Given the description of an element on the screen output the (x, y) to click on. 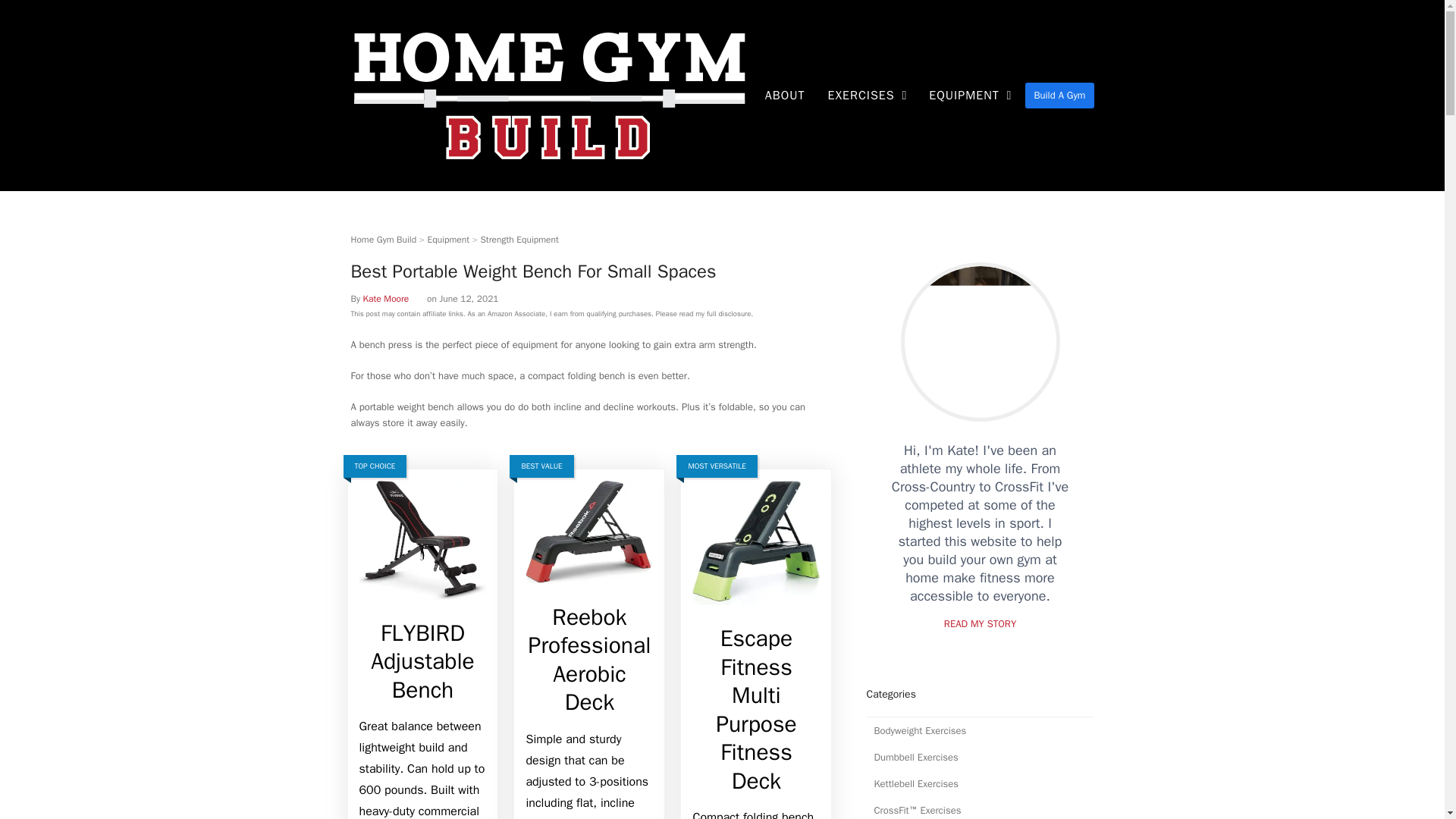
FLYBIRD Adjustable Bench (422, 662)
disclosure (734, 313)
FLYBIRD Adjustable Bench (422, 662)
Reebok Professional Aerobic Deck (588, 538)
Reebok Professional Aerobic Deck (588, 660)
Equipment (449, 239)
Escape Fitness Multi Purpose Fitness Deck (756, 548)
Reebok Professional Aerobic Deck (588, 660)
Kate Moore (385, 298)
FLYBIRD Adjustable Bench (422, 545)
